Given the description of an element on the screen output the (x, y) to click on. 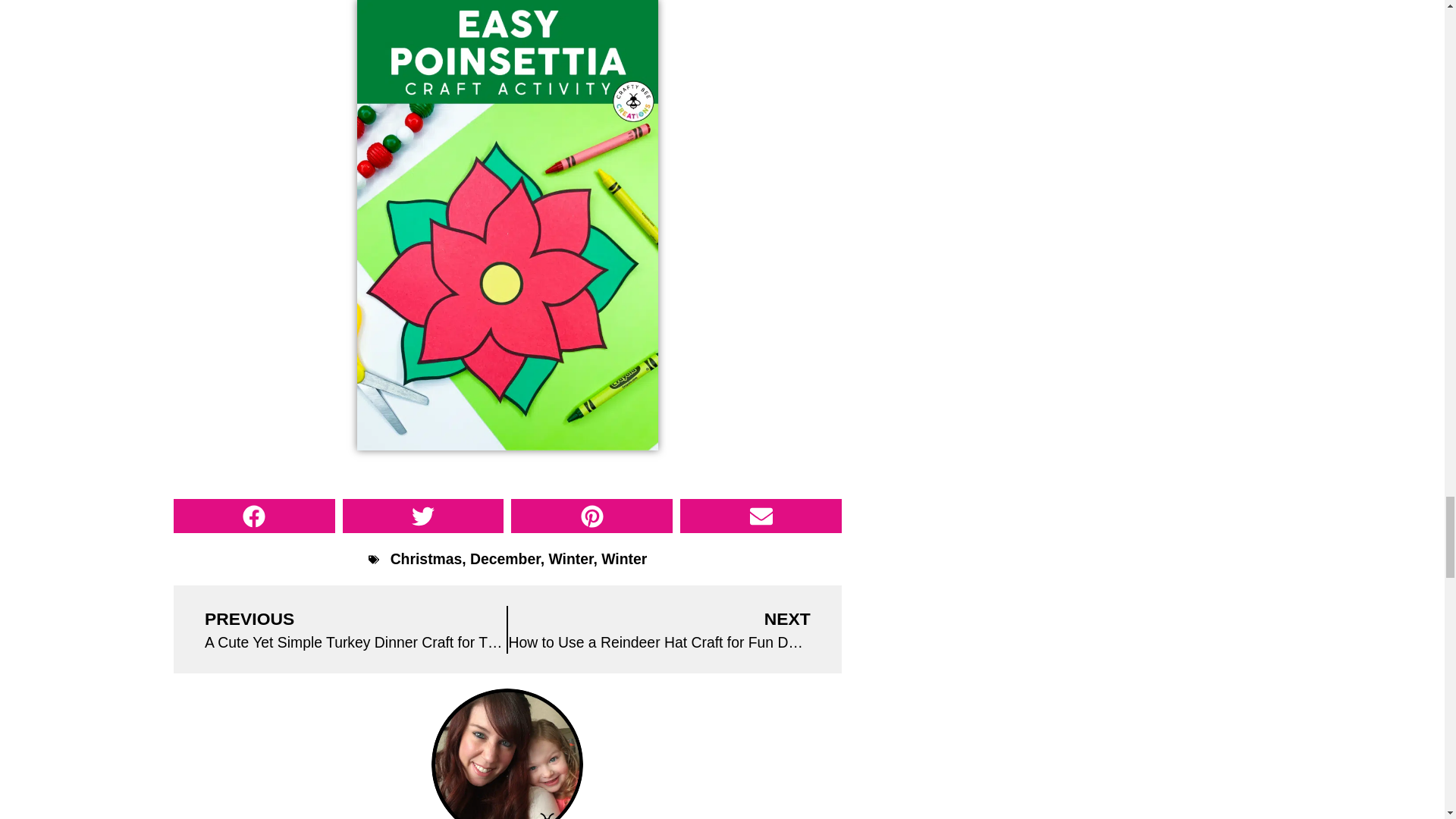
Winter (623, 558)
Winter (570, 558)
Christmas (426, 558)
December (505, 558)
